Given the description of an element on the screen output the (x, y) to click on. 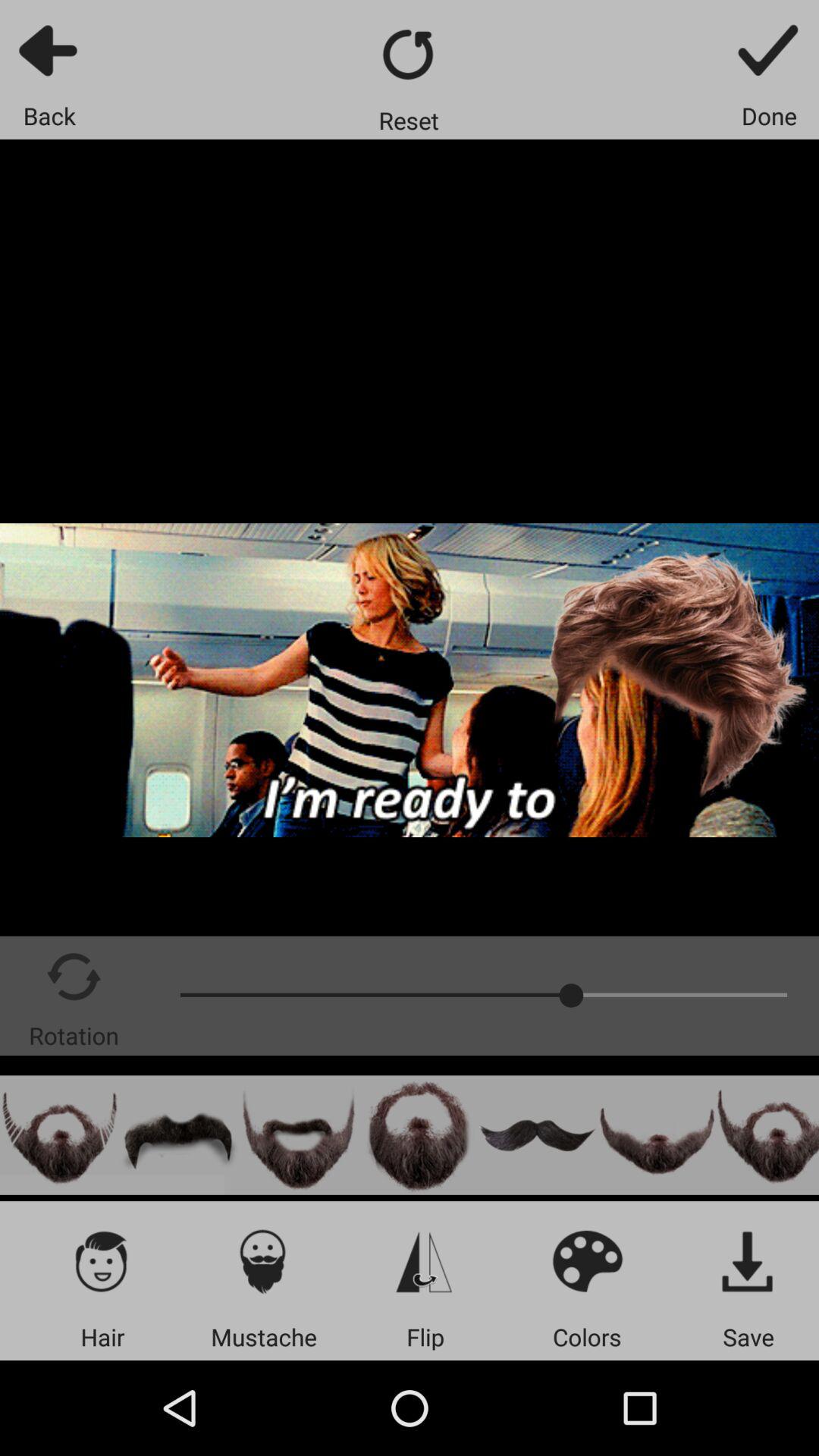
add mustache (178, 1134)
